Given the description of an element on the screen output the (x, y) to click on. 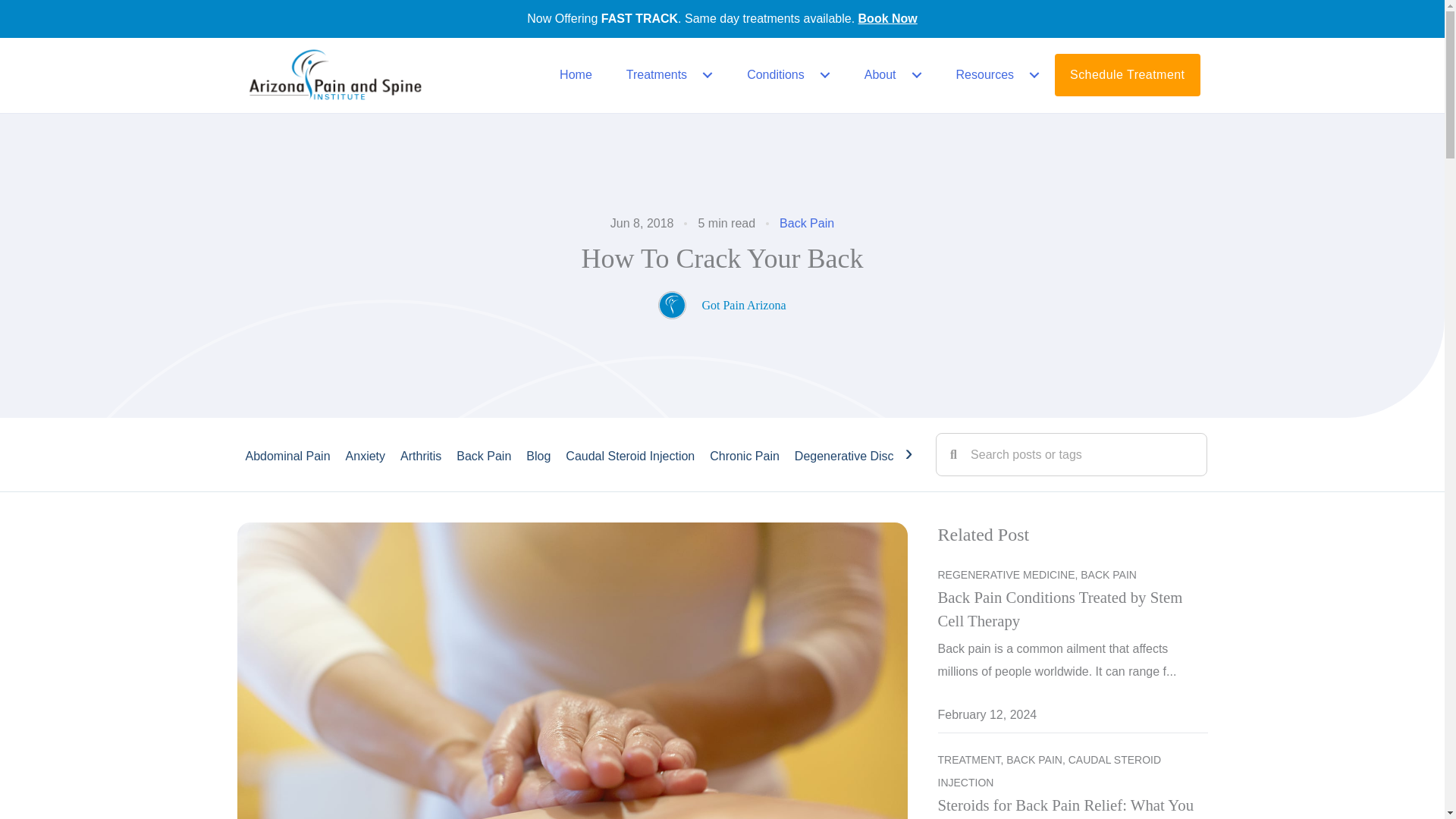
GPA Logo (334, 74)
Arthritis (420, 454)
Abdominal Pain (288, 454)
Treatments (667, 74)
Home (573, 74)
Anxiety (365, 454)
Book Now (888, 18)
Resources (995, 74)
Schedule Treatment (1126, 75)
Back Pain (806, 223)
Back Pain (484, 454)
Conditions (786, 74)
Search (1081, 454)
About (891, 74)
